Given the description of an element on the screen output the (x, y) to click on. 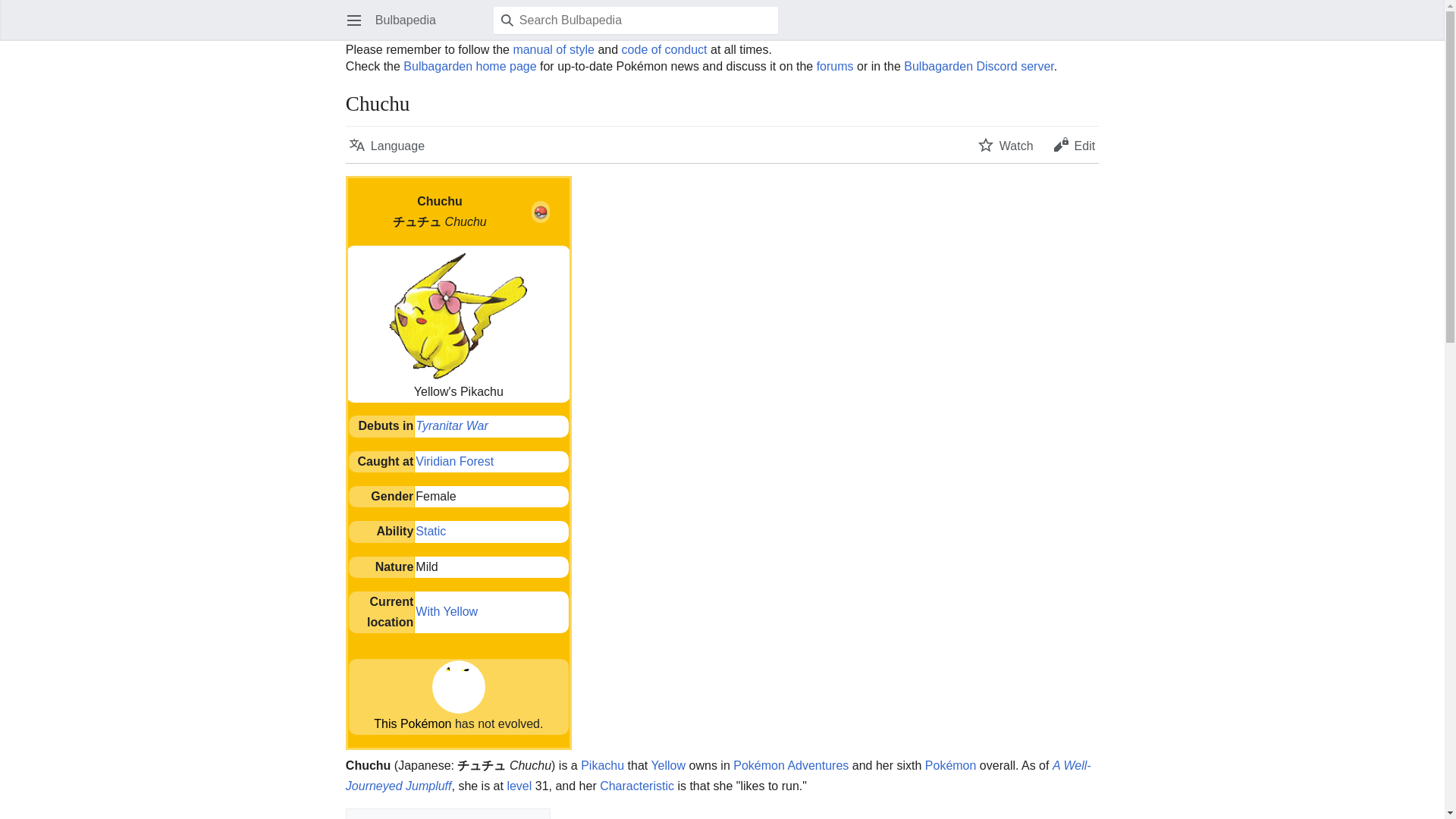
Level (518, 785)
A Well-Journeyed Jumpluff (718, 775)
With Yellow (445, 611)
Watch (1005, 144)
Static (429, 530)
level (518, 785)
PS111 (450, 425)
Bulbagarden Discord server (978, 65)
Viridian Forest (453, 461)
Language (386, 144)
Language (386, 144)
Watch (1005, 144)
Pikachu (602, 765)
Edit (1074, 144)
manual of style (553, 49)
